Given the description of an element on the screen output the (x, y) to click on. 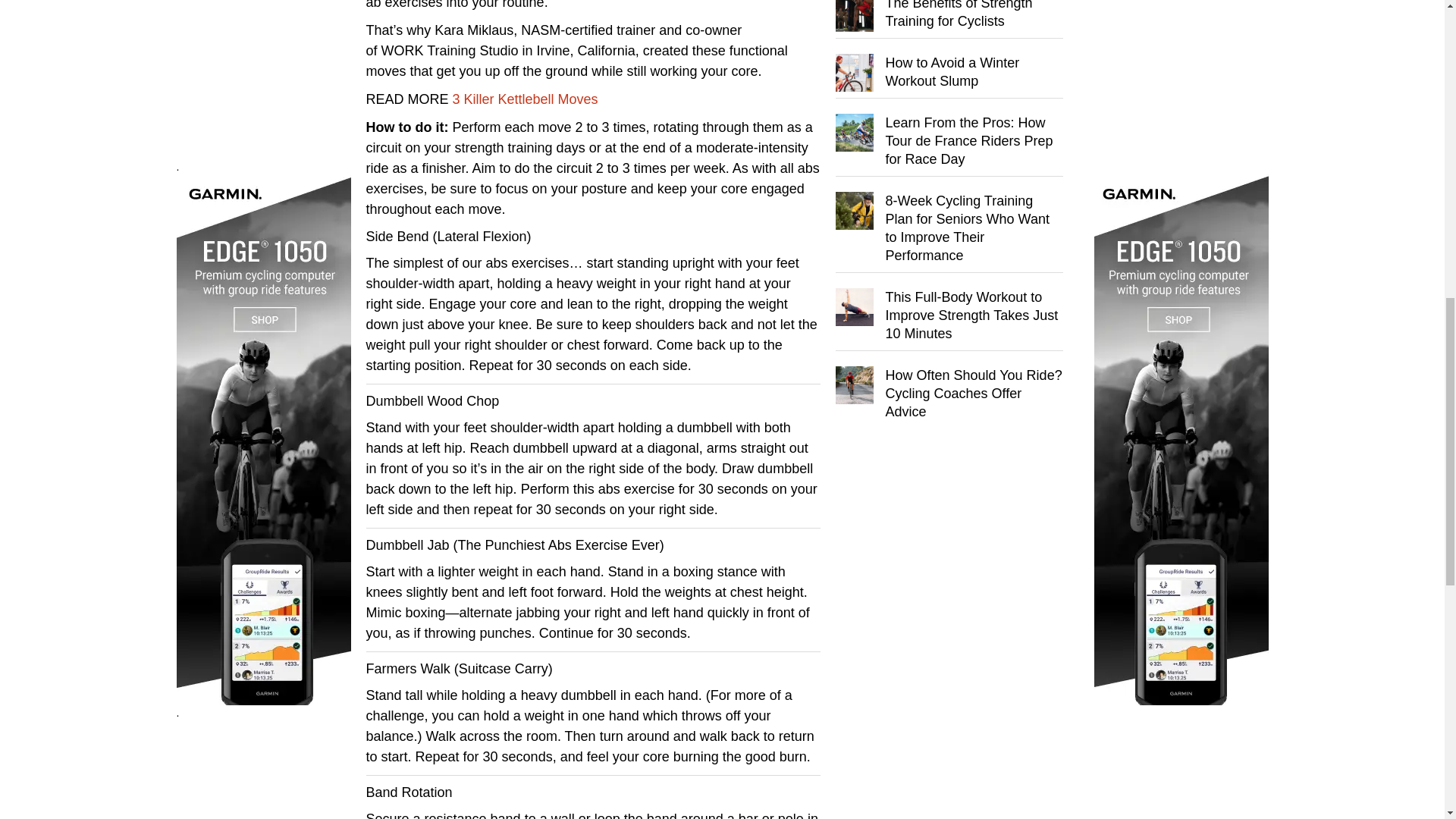
The Benefits of Strength Training for Cyclists (958, 14)
3 Killer Kettlebell Moves (525, 99)
